Given the description of an element on the screen output the (x, y) to click on. 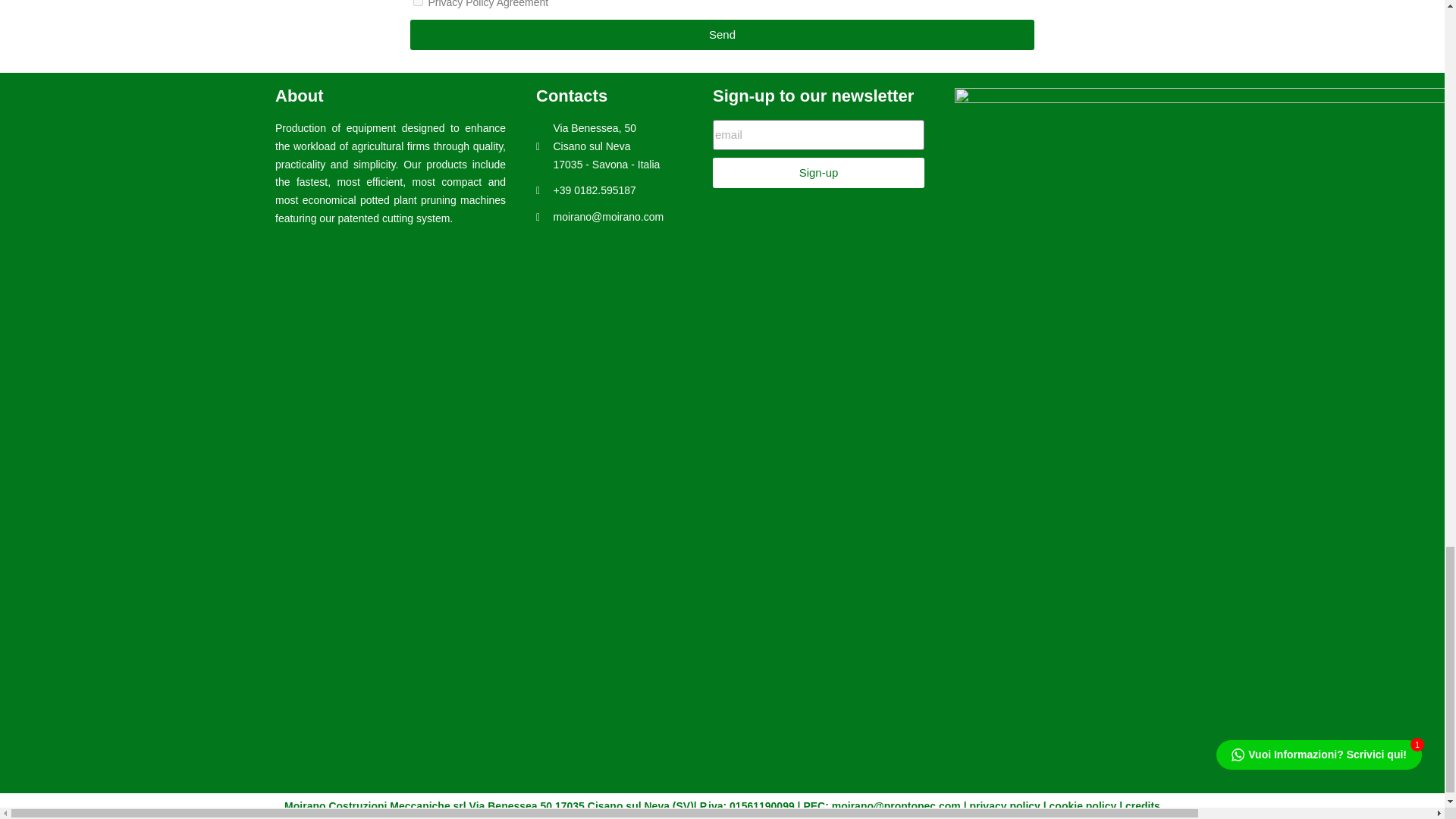
cookie policy (1082, 806)
Send (721, 34)
Sign-up (818, 173)
credits (1142, 806)
Privacy Policy Agreement (417, 2)
privacy policy (1004, 806)
